Given the description of an element on the screen output the (x, y) to click on. 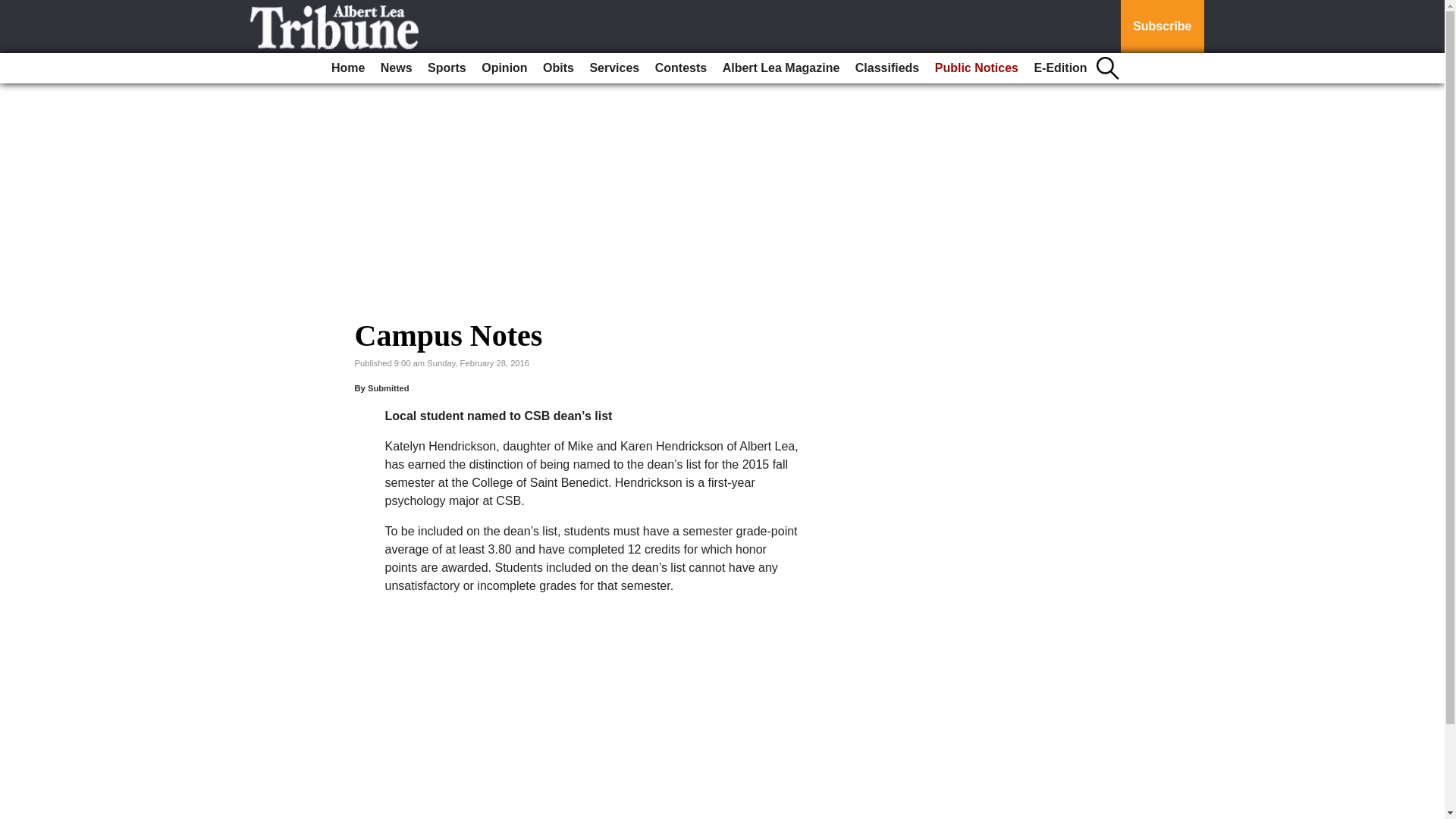
Home (347, 68)
Sports (446, 68)
Obits (558, 68)
Subscribe (1162, 26)
Services (614, 68)
News (396, 68)
Opinion (504, 68)
